Given the description of an element on the screen output the (x, y) to click on. 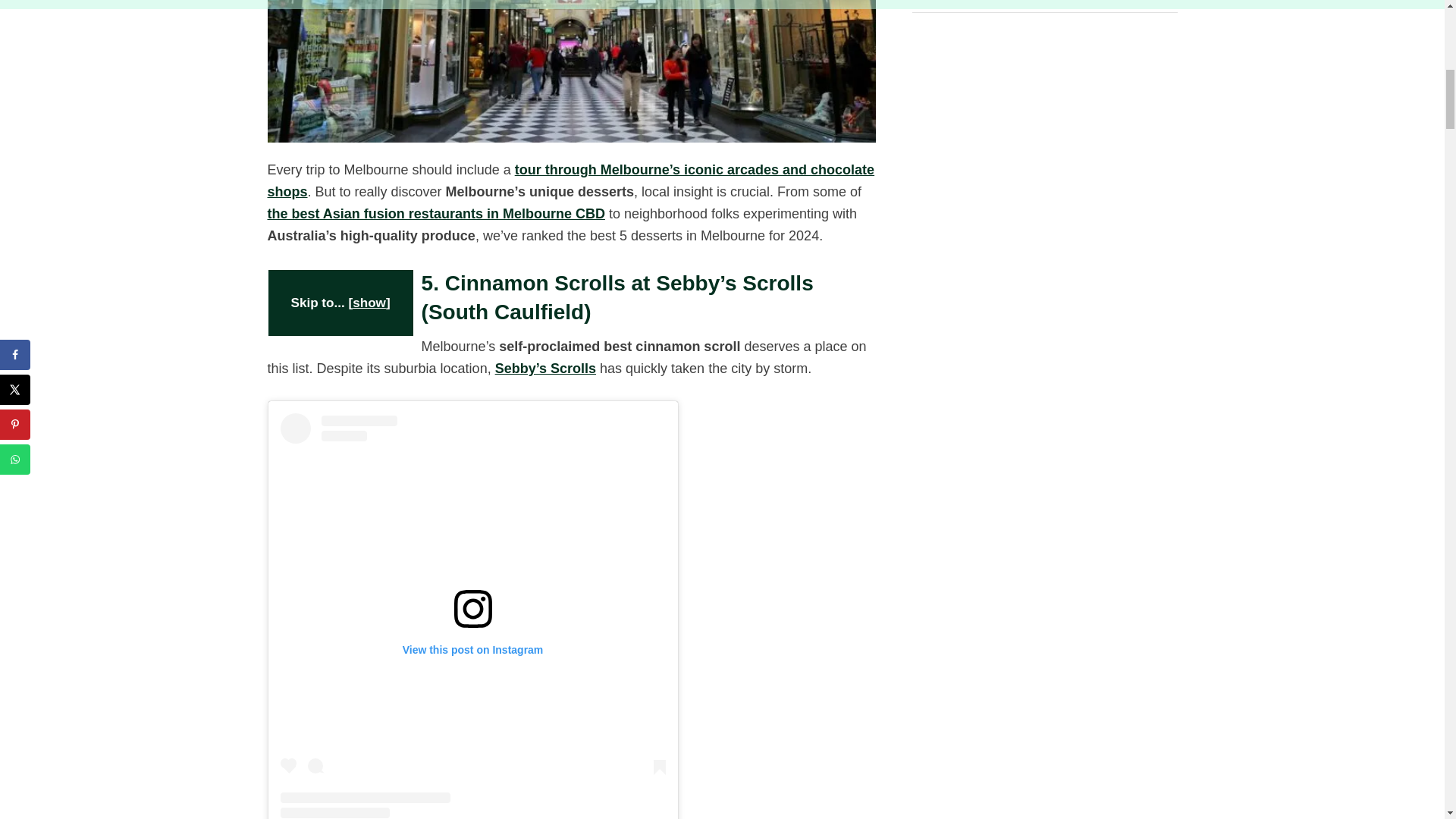
show (368, 302)
the best Asian fusion restaurants in Melbourne CBD (435, 213)
